Given the description of an element on the screen output the (x, y) to click on. 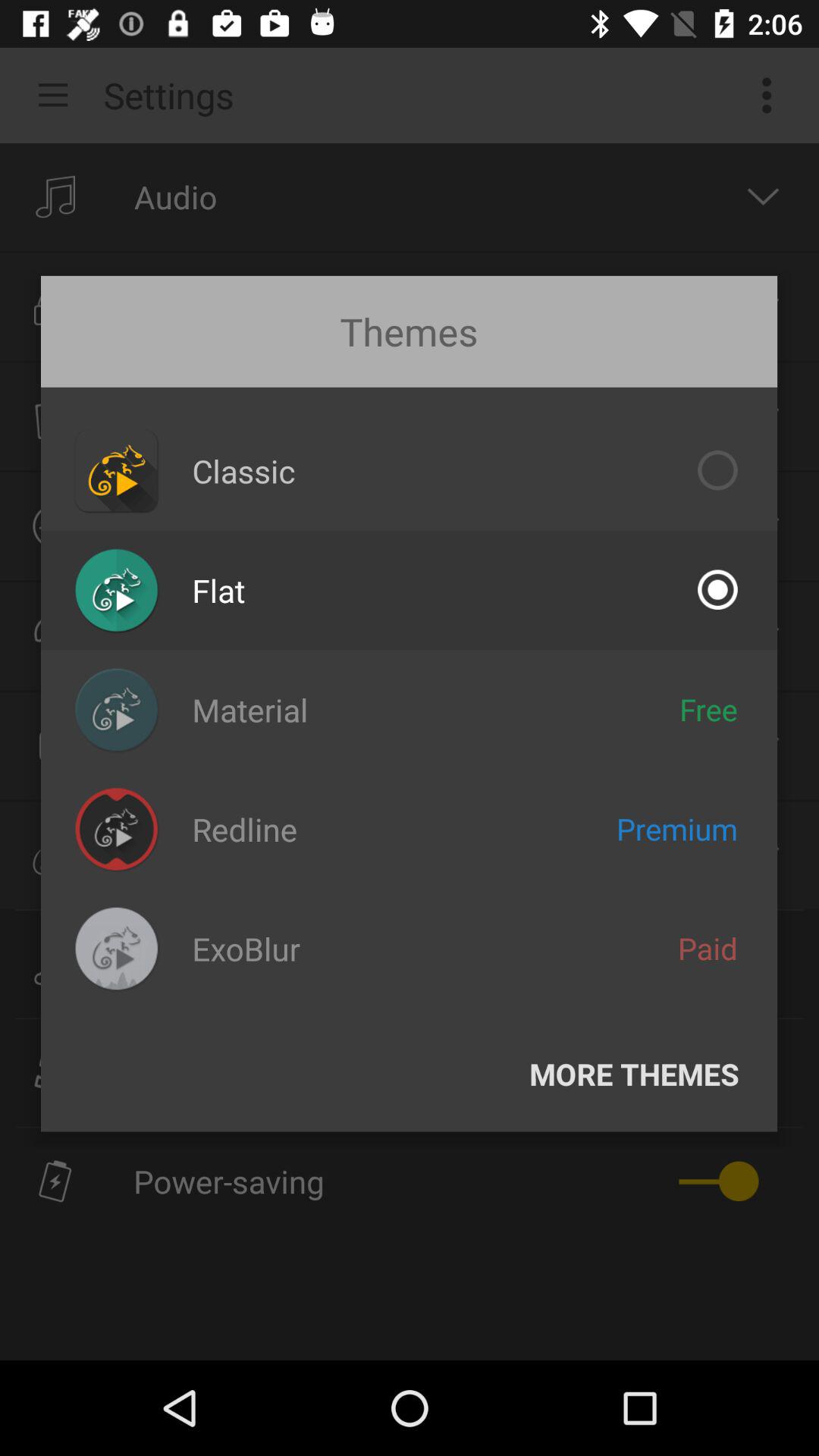
scroll until material (250, 709)
